Given the description of an element on the screen output the (x, y) to click on. 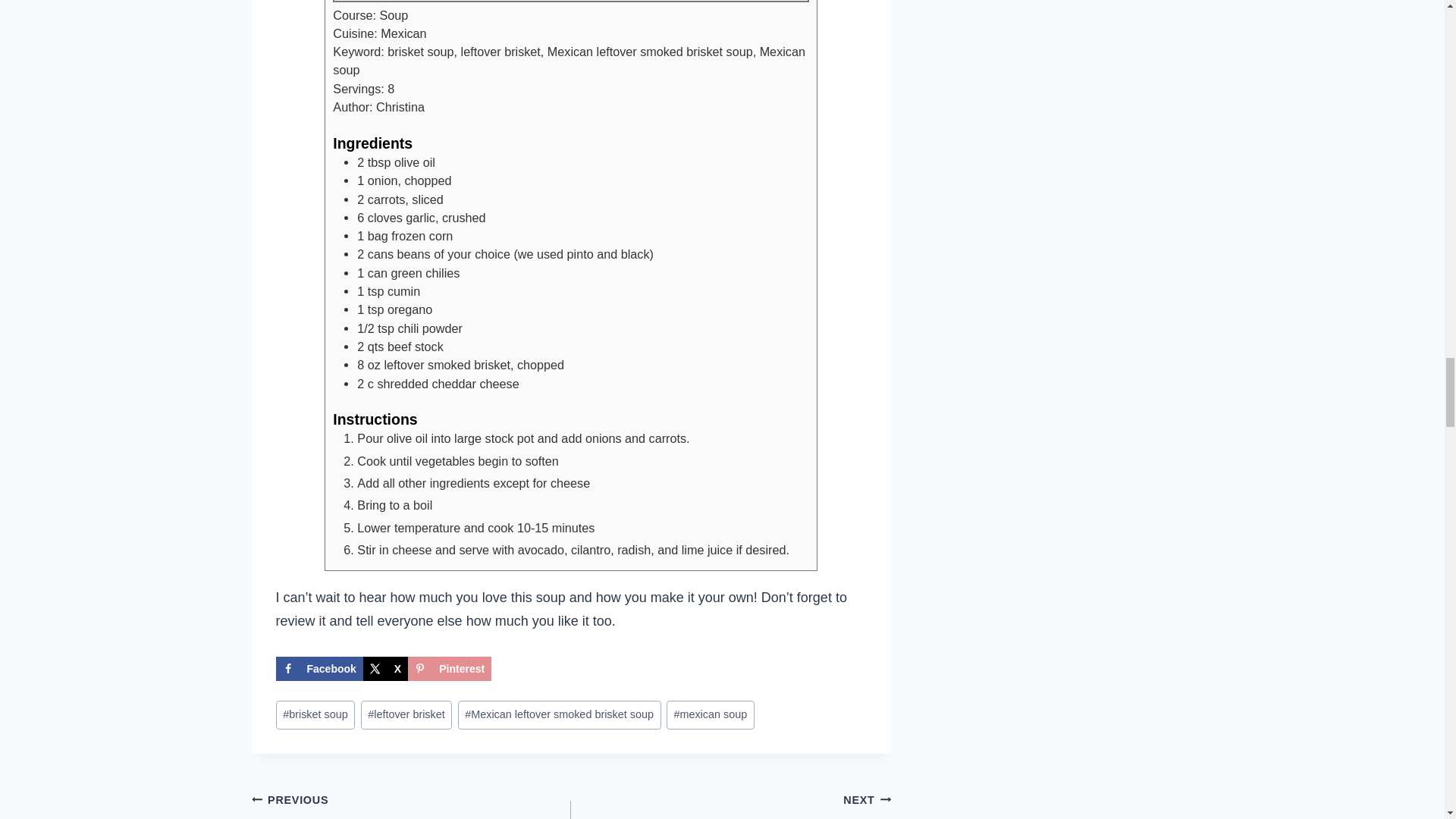
Share on X (384, 668)
brisket soup (315, 715)
Pinterest (449, 668)
Mexican leftover smoked brisket soup (411, 803)
Save to Pinterest (559, 715)
mexican soup (449, 668)
X (710, 715)
Facebook (384, 668)
